Given the description of an element on the screen output the (x, y) to click on. 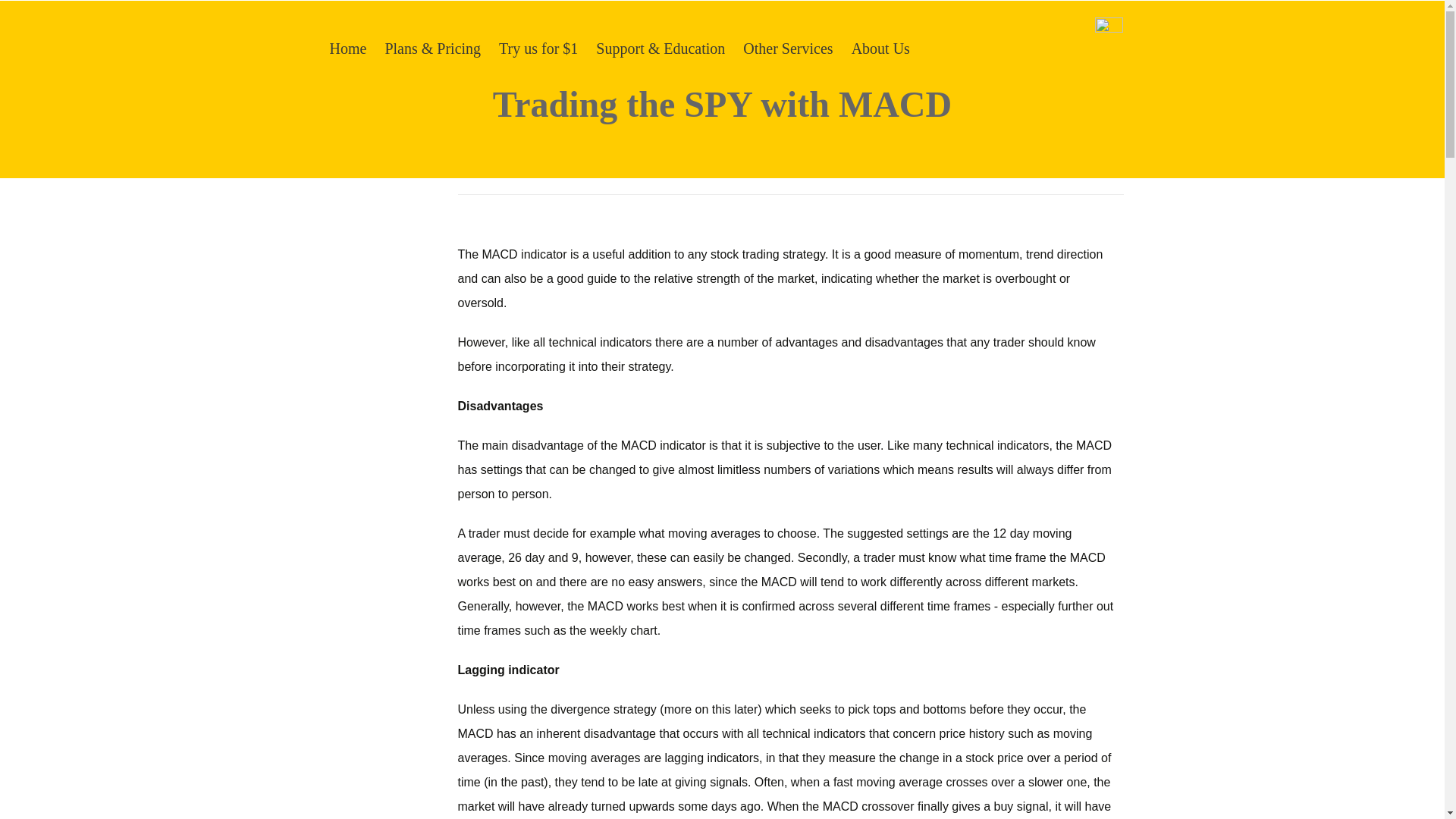
About Us (880, 47)
Other Services (787, 47)
Home (347, 47)
